Given the description of an element on the screen output the (x, y) to click on. 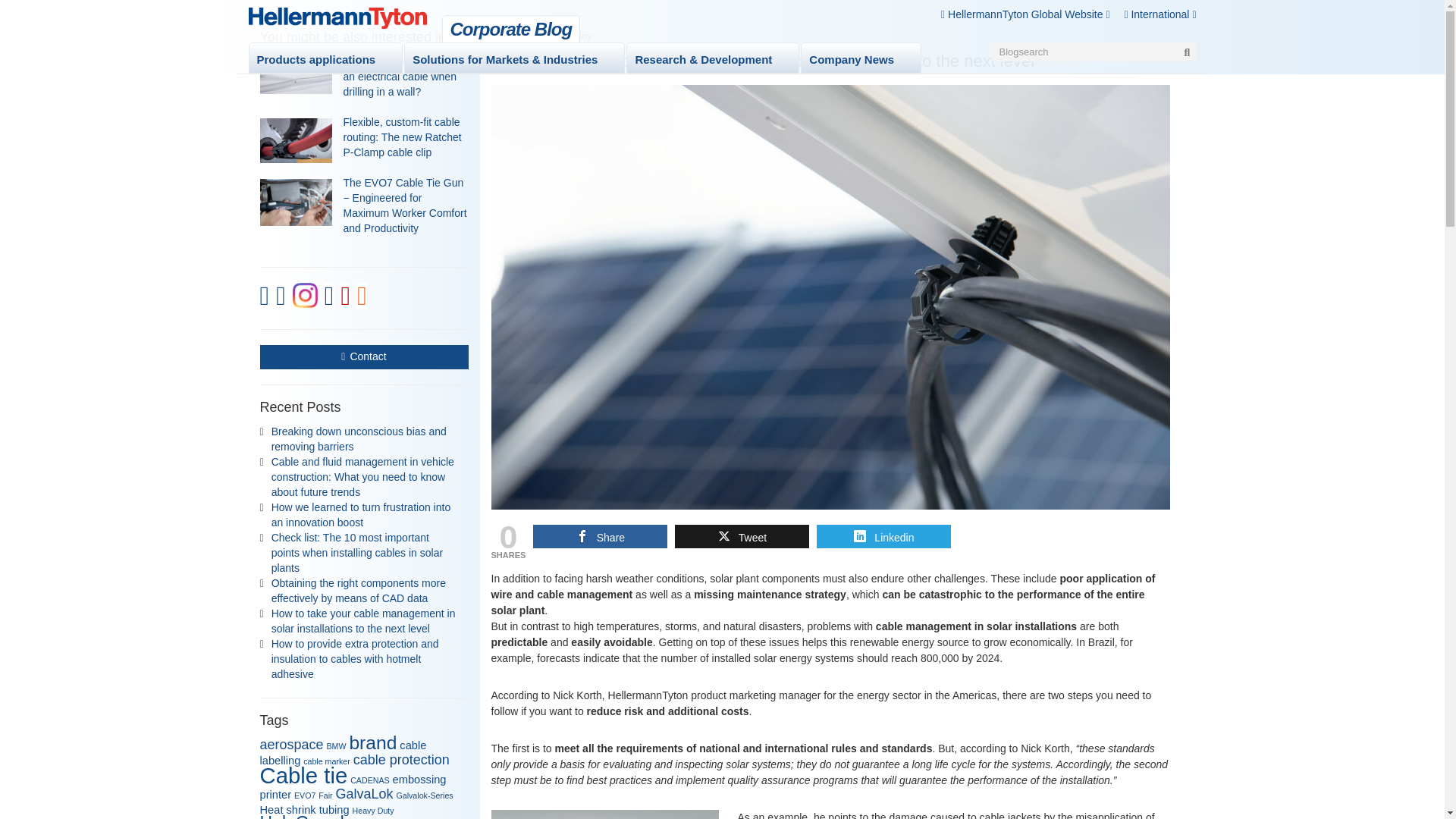
HellermannTyton at LinkedIn (265, 300)
Share (599, 535)
International (1159, 14)
Company (572, 36)
Switch language (1159, 14)
HellermannTyton Global Website (1024, 14)
Company News (851, 59)
Linkedin (883, 535)
Tweet (742, 535)
HellermannTyton (337, 17)
